Given the description of an element on the screen output the (x, y) to click on. 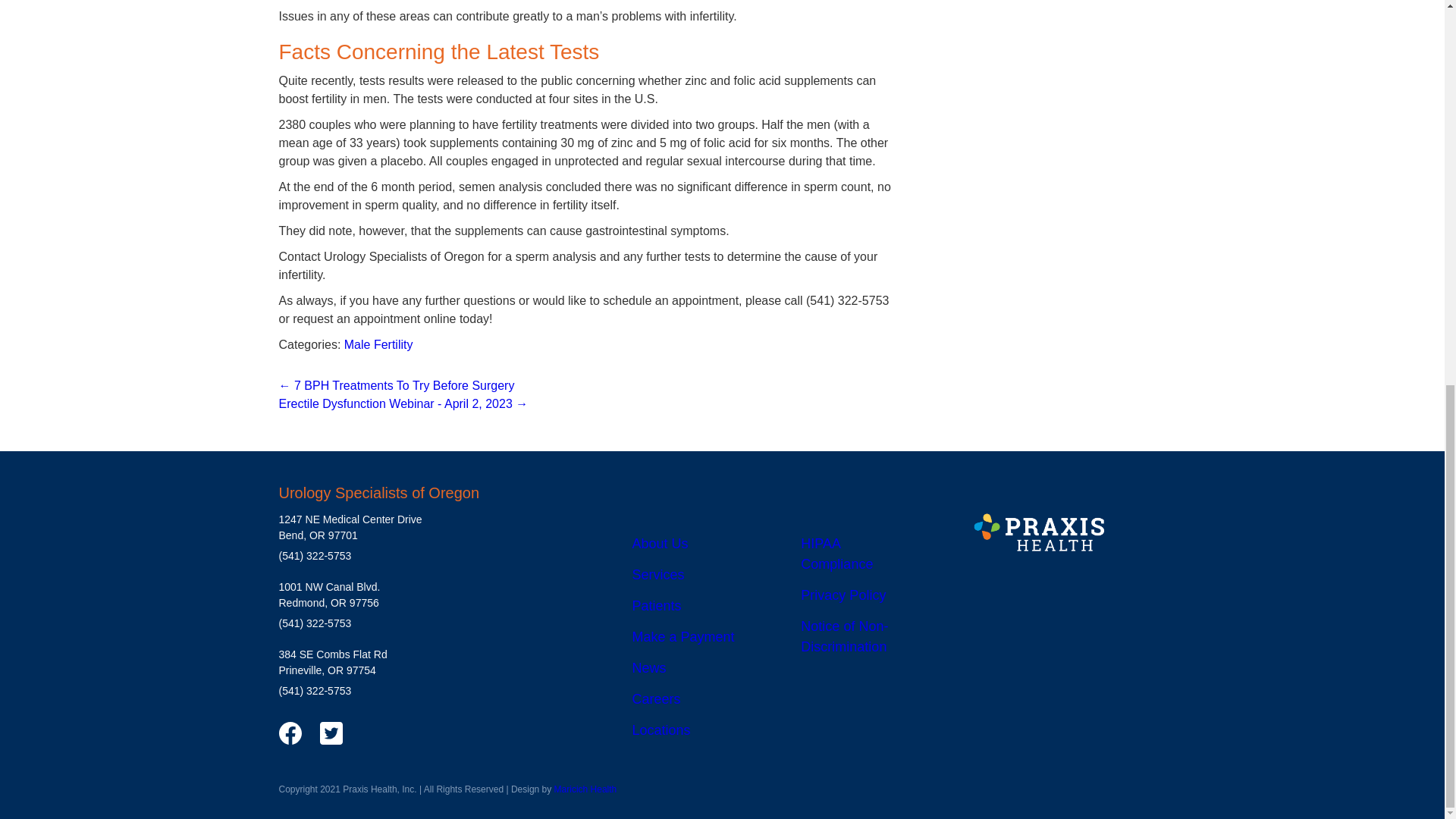
News (648, 667)
About Us (659, 543)
Privacy Policy (842, 595)
Careers (656, 698)
Patients (656, 605)
Maricich Health (585, 788)
Make a Payment (683, 636)
HIPAA Compliance (836, 553)
Male Fertility (378, 344)
Locations (660, 729)
Notice of Non-Discrimination (844, 636)
Services (657, 574)
